Given the description of an element on the screen output the (x, y) to click on. 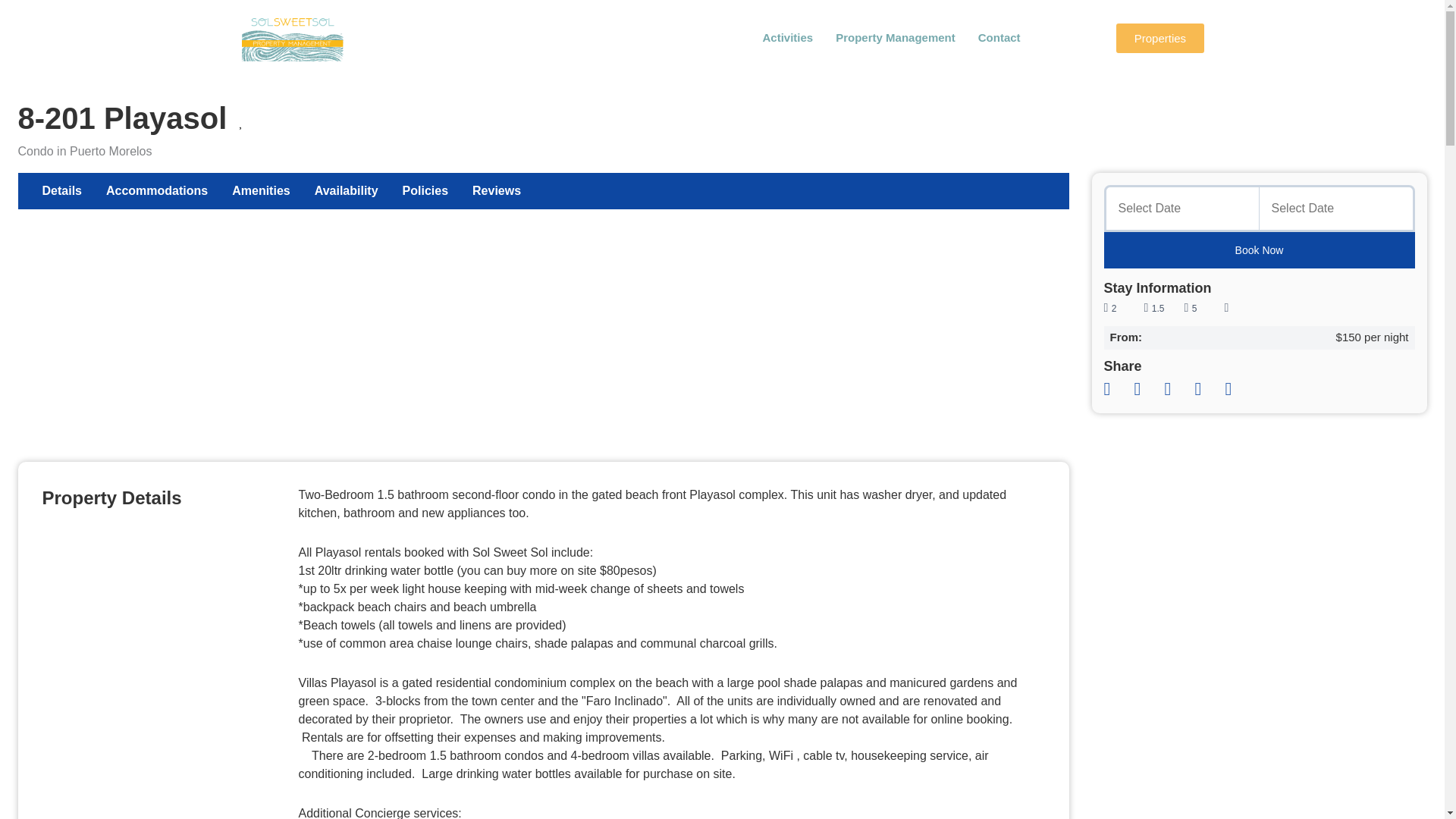
Book Now (1259, 249)
Availability (346, 190)
Contact (999, 37)
Amenities (260, 190)
Policies (425, 190)
Properties (62, 190)
Reviews (1160, 37)
Property Management (496, 190)
Accommodations (895, 37)
